Given the description of an element on the screen output the (x, y) to click on. 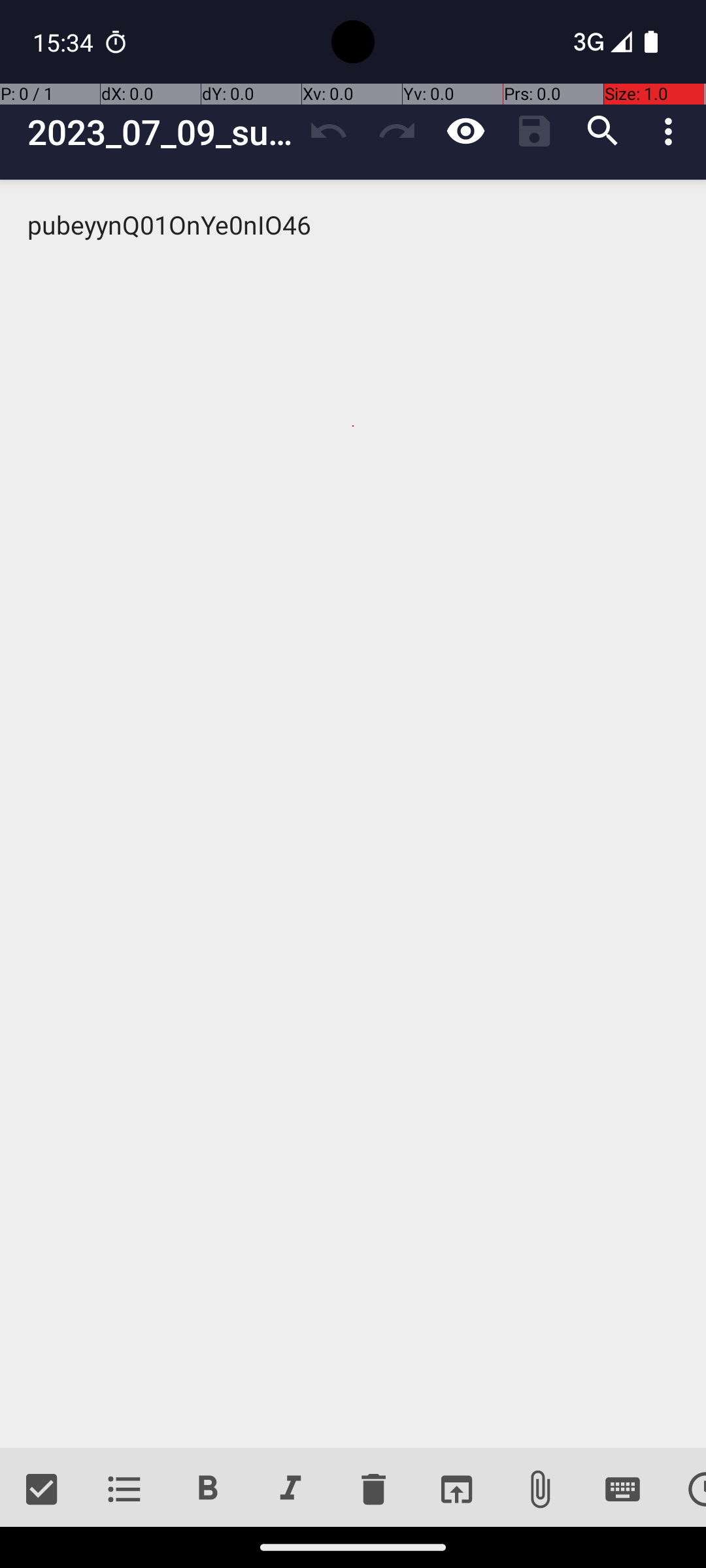
2023_07_09_summer_vacation_plans Element type: android.widget.TextView (160, 131)
pubeyynQ01OnYe0nIO46
 Element type: android.widget.EditText (353, 813)
